Given the description of an element on the screen output the (x, y) to click on. 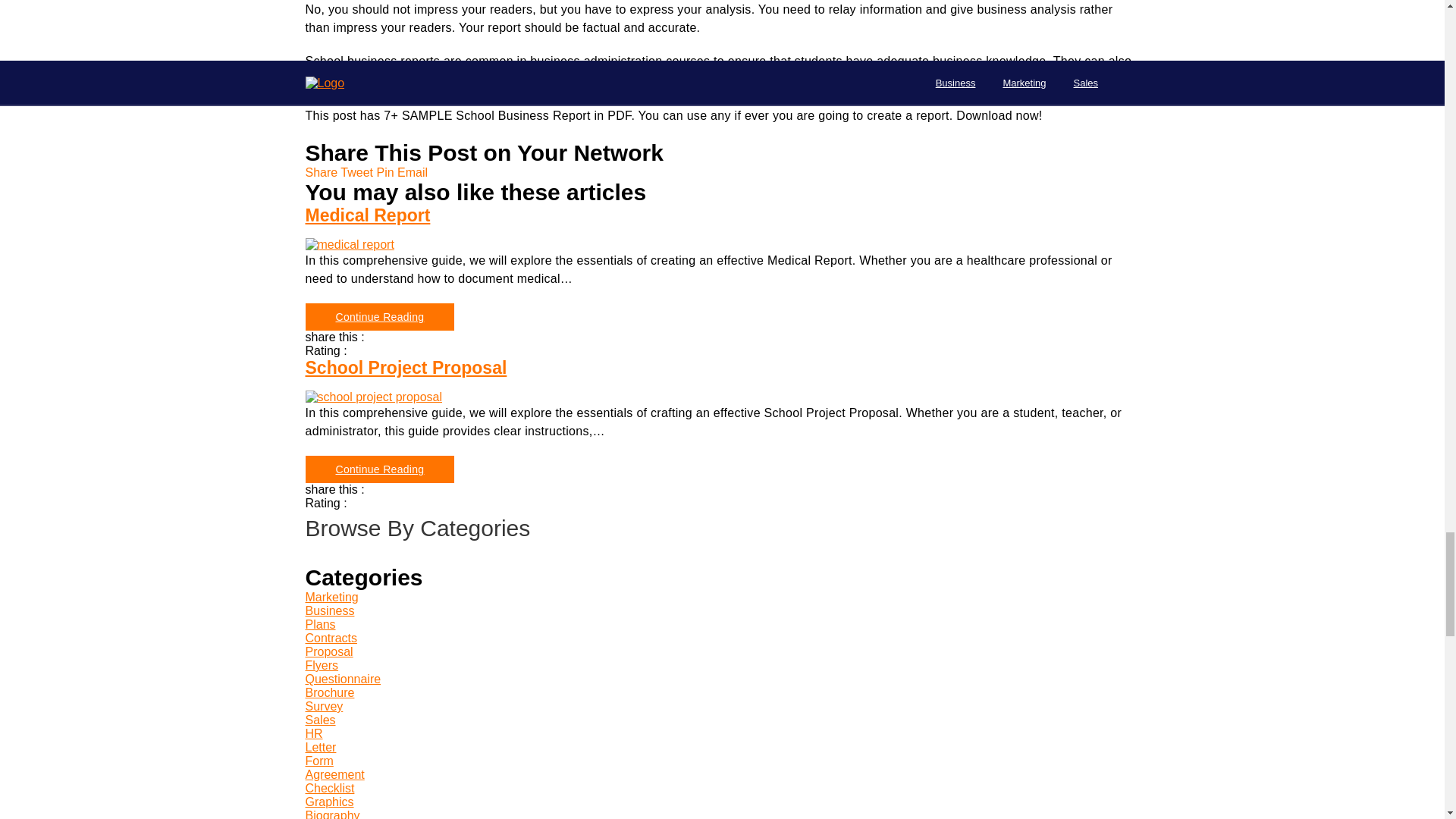
School Project Proposal (721, 397)
Medical Report (721, 215)
Medical Report (379, 316)
Medical Report (721, 244)
School Project Proposal (721, 367)
School Project Proposal (379, 469)
Medical Report (348, 244)
School Project Proposal (373, 397)
